Given the description of an element on the screen output the (x, y) to click on. 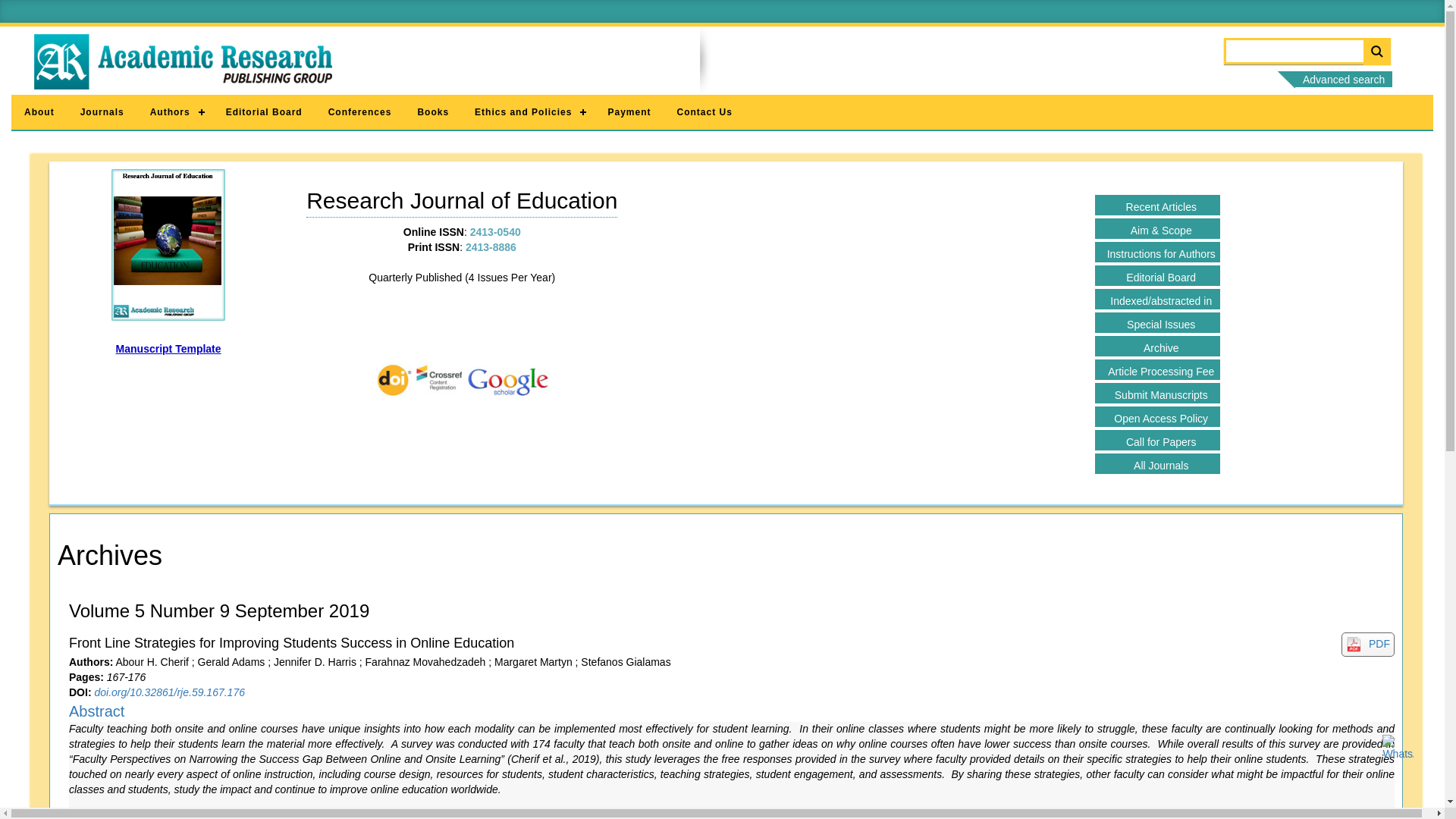
Journals (101, 112)
Contact Us (703, 112)
Article Processing Fee (1157, 369)
All Journals (1157, 463)
Instructions for Authors (1157, 251)
Editorial Board (263, 112)
Ethics and Policies (527, 112)
Special Issues (1157, 322)
Recent Articles (1157, 204)
Authors (174, 112)
Conferences (359, 112)
Submit Manuscripts (1157, 393)
Editorial Board (1157, 275)
